Given the description of an element on the screen output the (x, y) to click on. 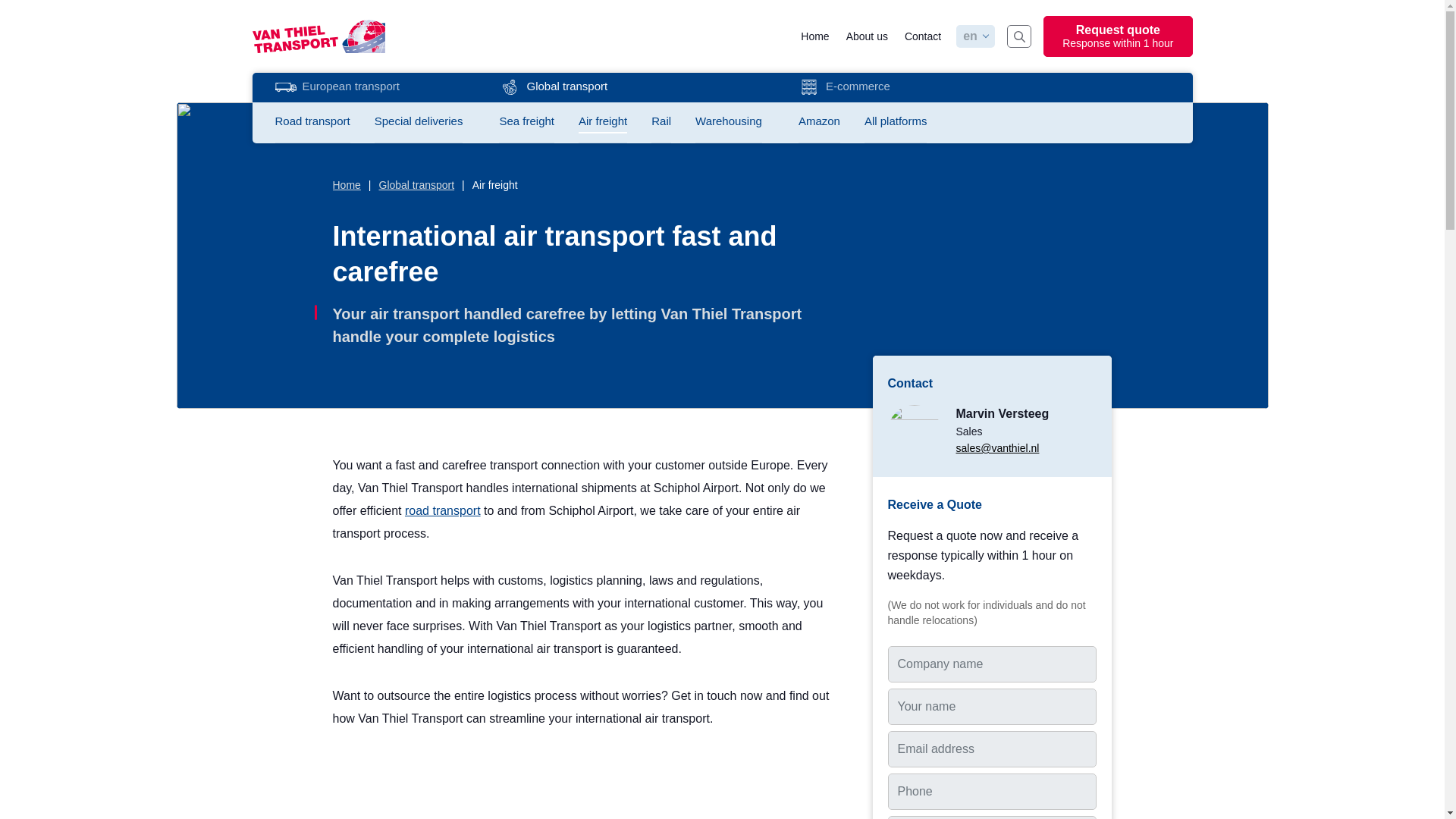
Contact (922, 36)
Road transport (312, 121)
Request quote (1117, 35)
About us (866, 36)
en (972, 36)
Home (814, 36)
Go to Global transport. (416, 184)
Van Thiel Transport (317, 34)
Go to Van Thiel Transport. (1117, 35)
